Given the description of an element on the screen output the (x, y) to click on. 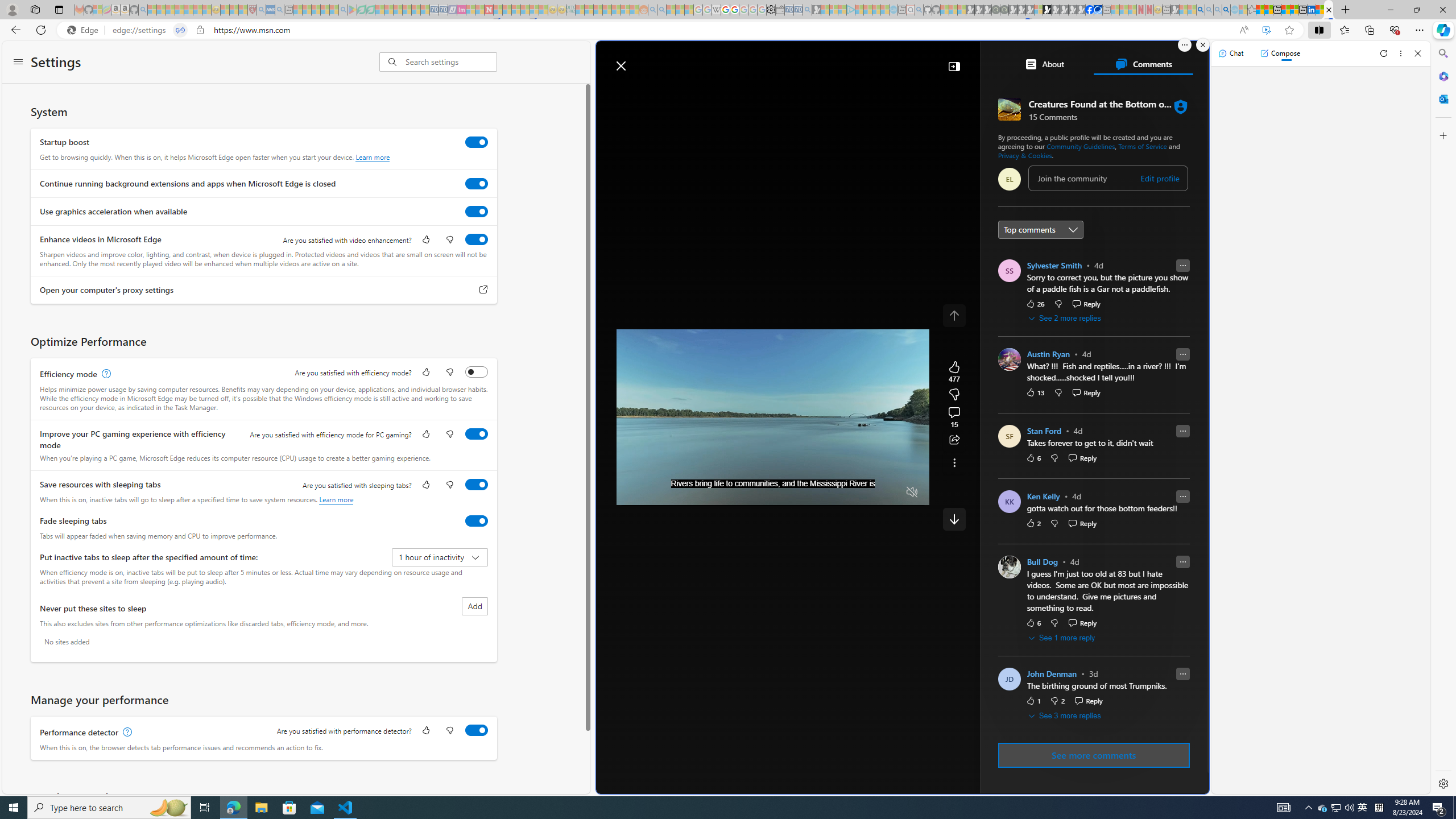
Performance detector, learn more (126, 732)
John Denman (1051, 674)
Class: control icon-only (954, 315)
